Given the description of an element on the screen output the (x, y) to click on. 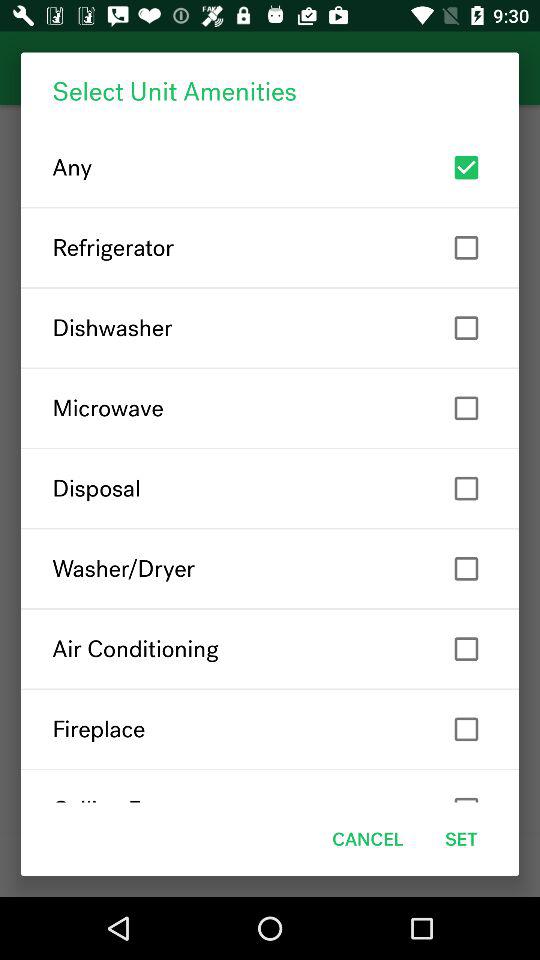
open the set (461, 838)
